Given the description of an element on the screen output the (x, y) to click on. 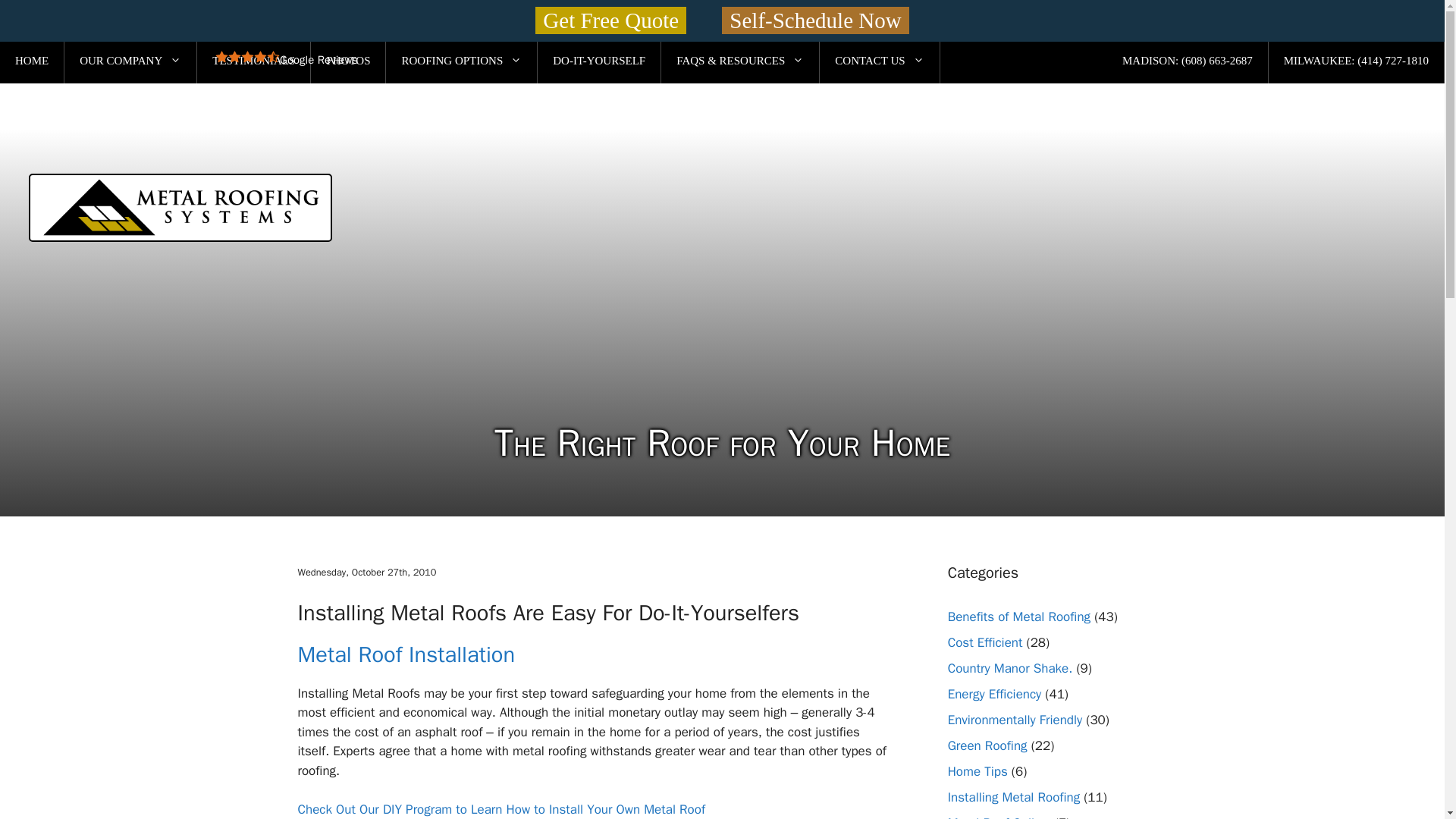
DO-IT-YOURSELF (599, 60)
ROOFING OPTIONS (461, 60)
PHOTOS (348, 60)
Self-Schedule Now (815, 20)
OUR COMPANY (130, 60)
TESTIMONIALS (253, 60)
Get Free Quote (610, 20)
HOME (32, 60)
